Given the description of an element on the screen output the (x, y) to click on. 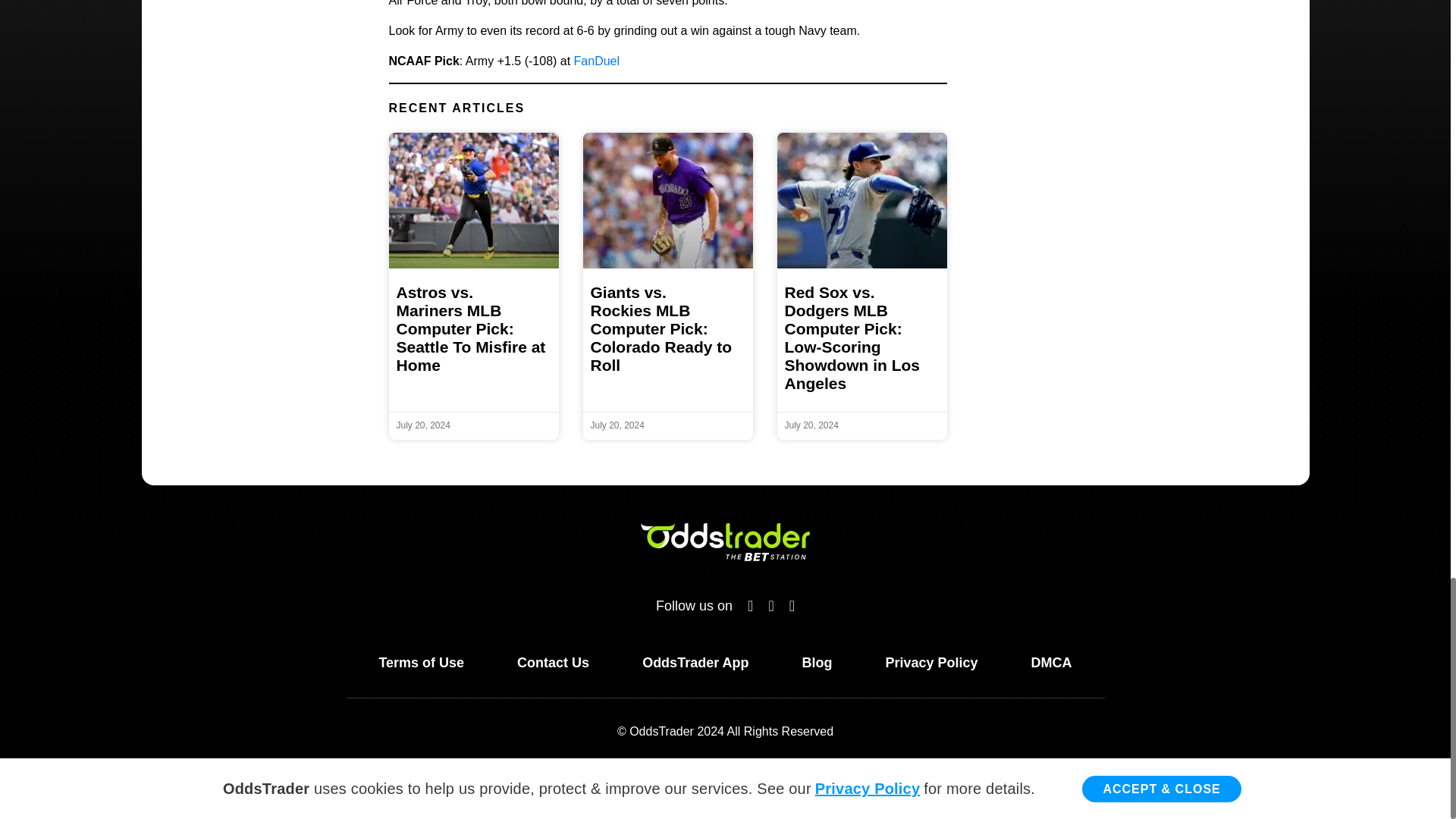
FanDuel (596, 60)
